Given the description of an element on the screen output the (x, y) to click on. 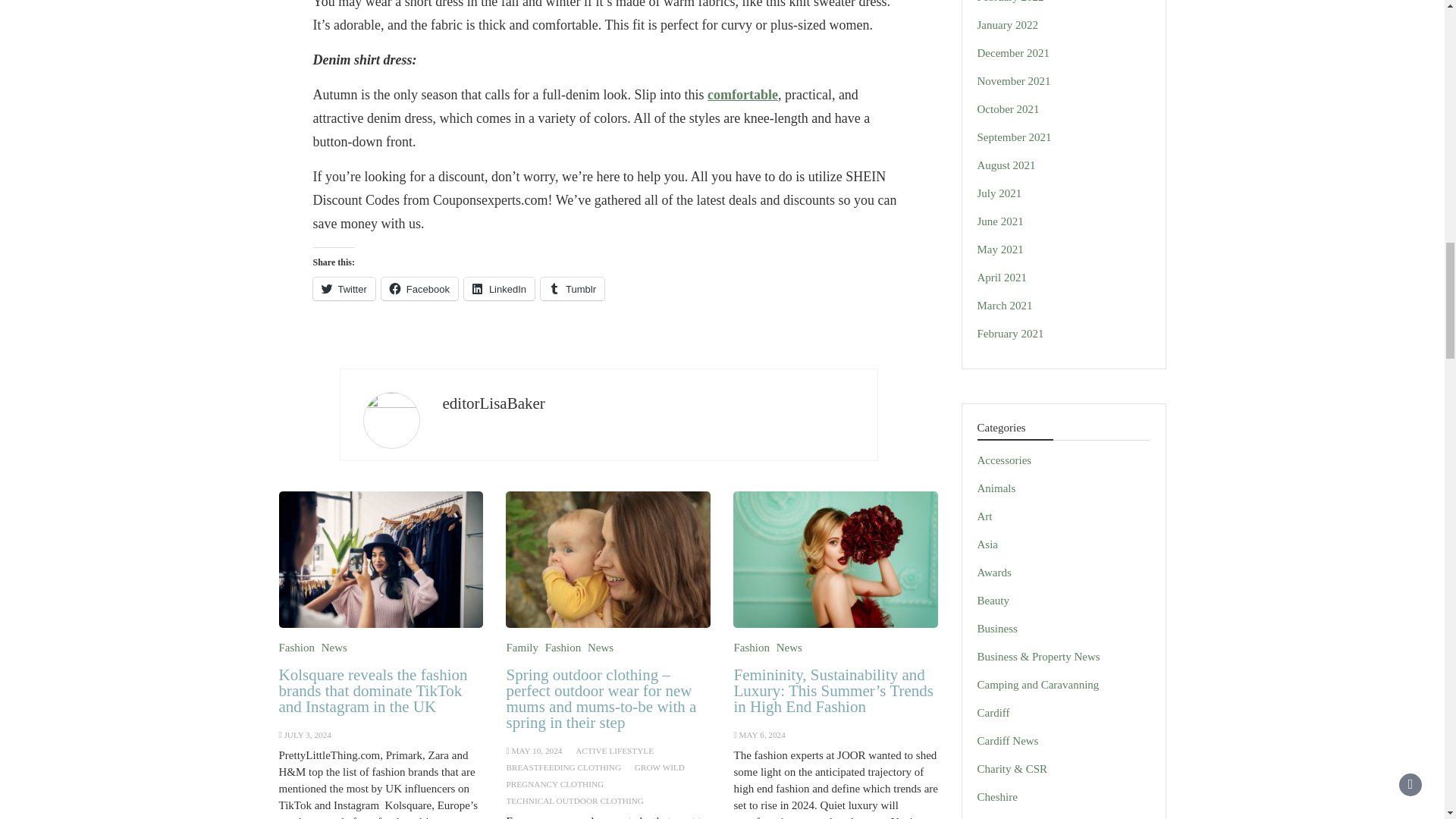
Click to share on Tumblr (572, 288)
News (334, 647)
LinkedIn (499, 288)
Click to share on Facebook (419, 288)
Tumblr (572, 288)
editorLisaBaker (493, 402)
Click to share on LinkedIn (499, 288)
Twitter (343, 288)
Click to share on Twitter (343, 288)
Fashion (297, 647)
Facebook (419, 288)
comfortable (742, 94)
